Given the description of an element on the screen output the (x, y) to click on. 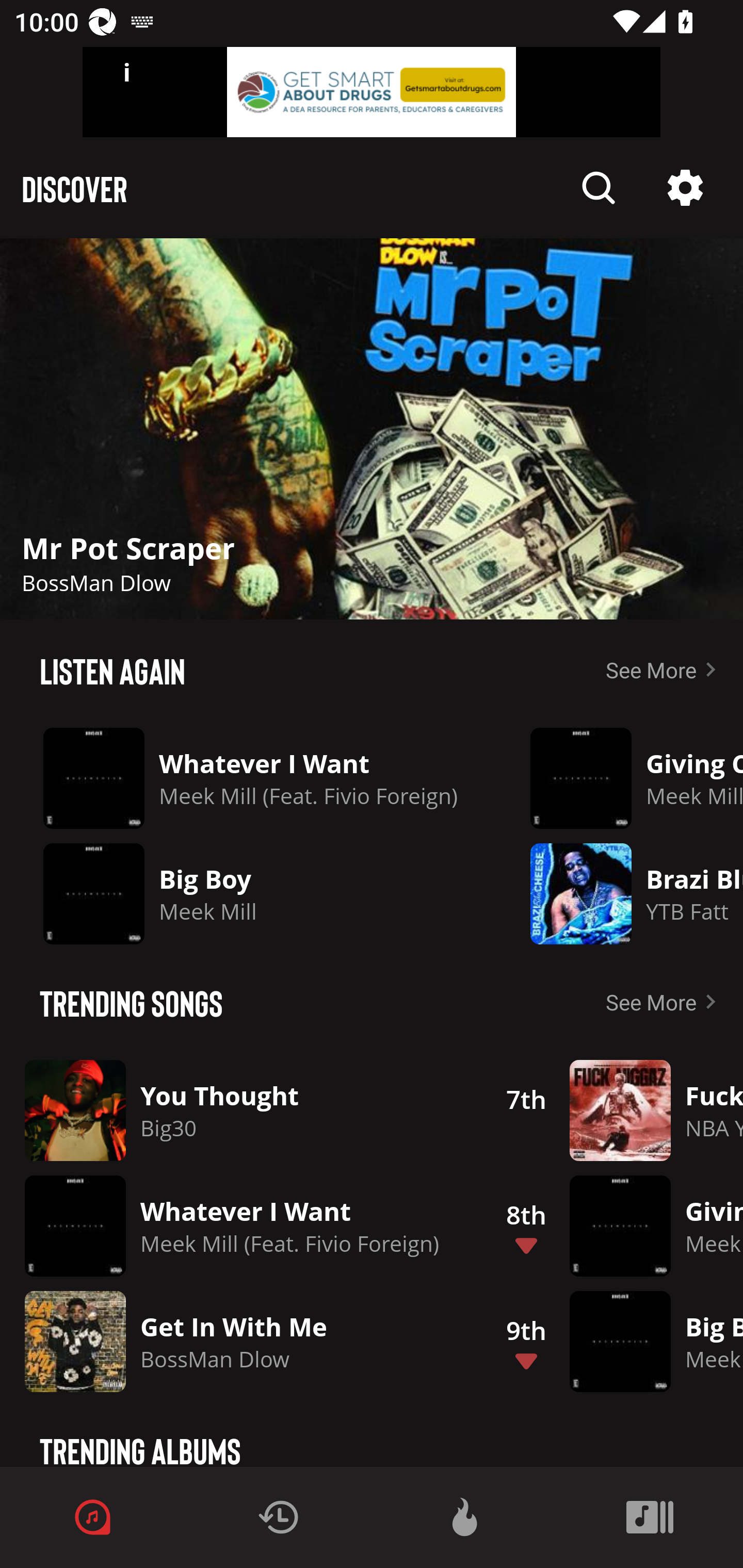
Description (598, 188)
Description (684, 188)
Description (371, 428)
See More (664, 669)
Description Giving Chanel Meek Mill (Feat. Future) (622, 778)
Description Big Boy Meek Mill (250, 893)
Description Brazi Blue Cheese YTB Fatt (622, 893)
See More (664, 1001)
4th Description You Thought Big30 (234, 1110)
7th Description Fuck Niggaz NBA Youngboy (612, 1110)
6th Description Get In With Me BossMan Dlow (234, 1341)
9th Description Description Big Boy Meek Mill (612, 1341)
